Given the description of an element on the screen output the (x, y) to click on. 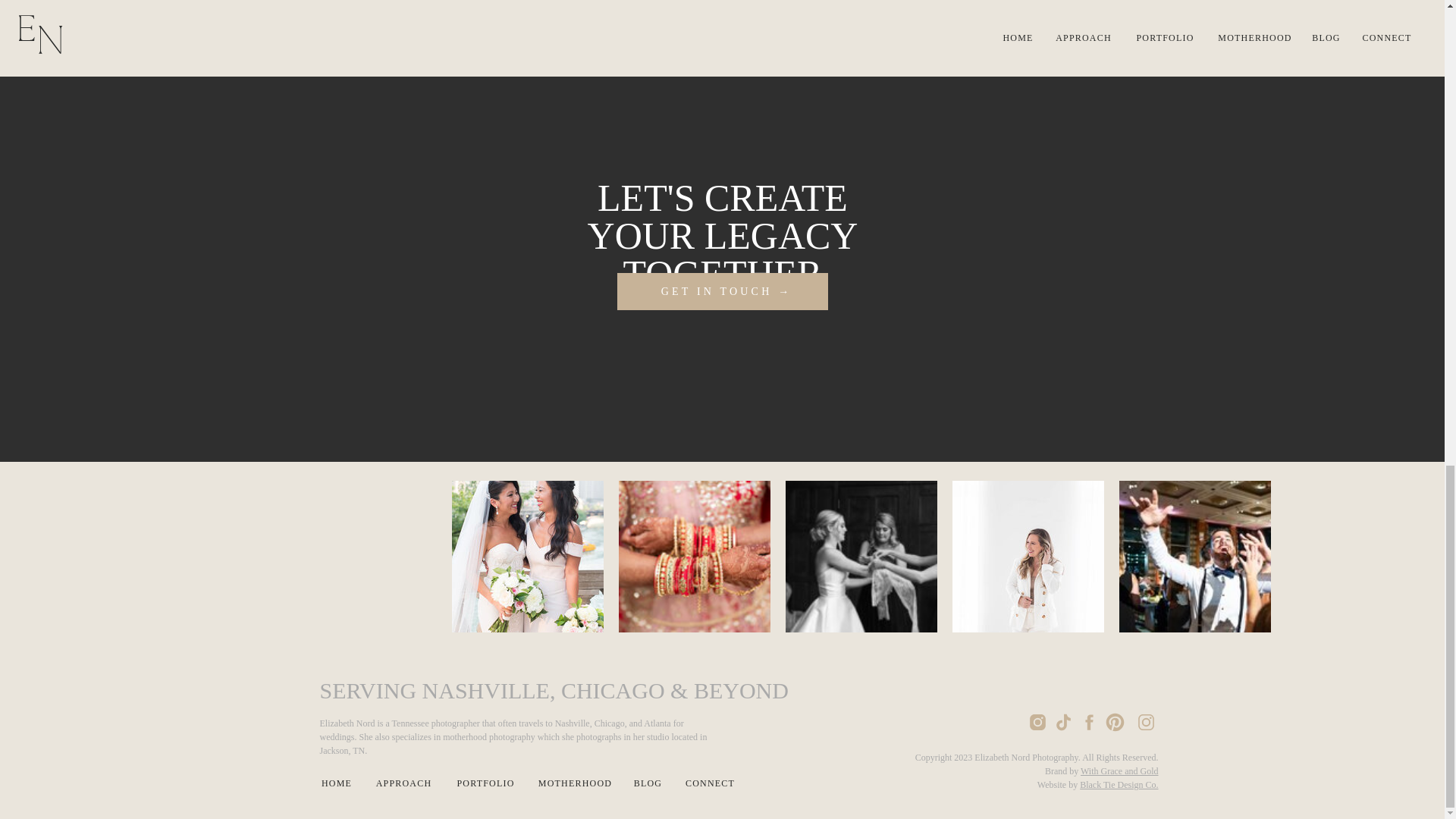
Black Tie Design Co. (1118, 784)
ENP-1408 (694, 556)
CONNECT (710, 783)
APPROACH (403, 783)
BLOG (646, 783)
Hall-Humphrey-Wedding-133 (861, 556)
With Grace and Gold (1118, 770)
MOTHERHOOD (575, 783)
PORTFOLIO (484, 783)
Elizabeth-Nord-Photography-Nashville-Photographer-40 (1027, 556)
HOME (336, 783)
LET'S CREATE YOUR LEGACY TOGETHER (721, 220)
